Given the description of an element on the screen output the (x, y) to click on. 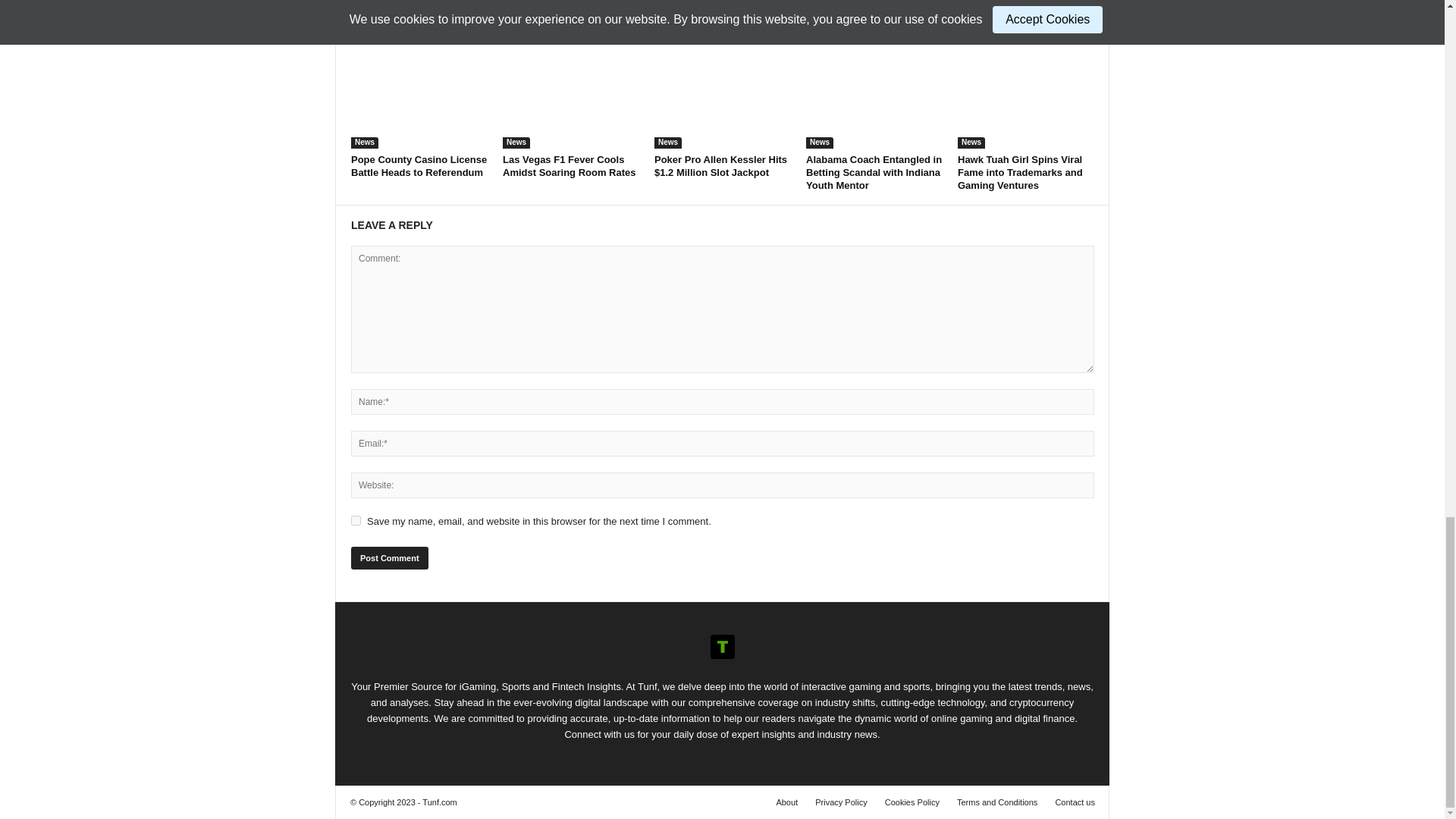
Pope County Casino License Battle Heads to Referendum (418, 165)
Post Comment (389, 558)
News (515, 142)
MORE FROM AUTHOR (513, 11)
yes (355, 520)
News (667, 142)
Las Vegas F1 Fever Cools Amidst Soaring Room Rates (569, 165)
RELATED ARTICLES (404, 11)
News (364, 142)
